Given the description of an element on the screen output the (x, y) to click on. 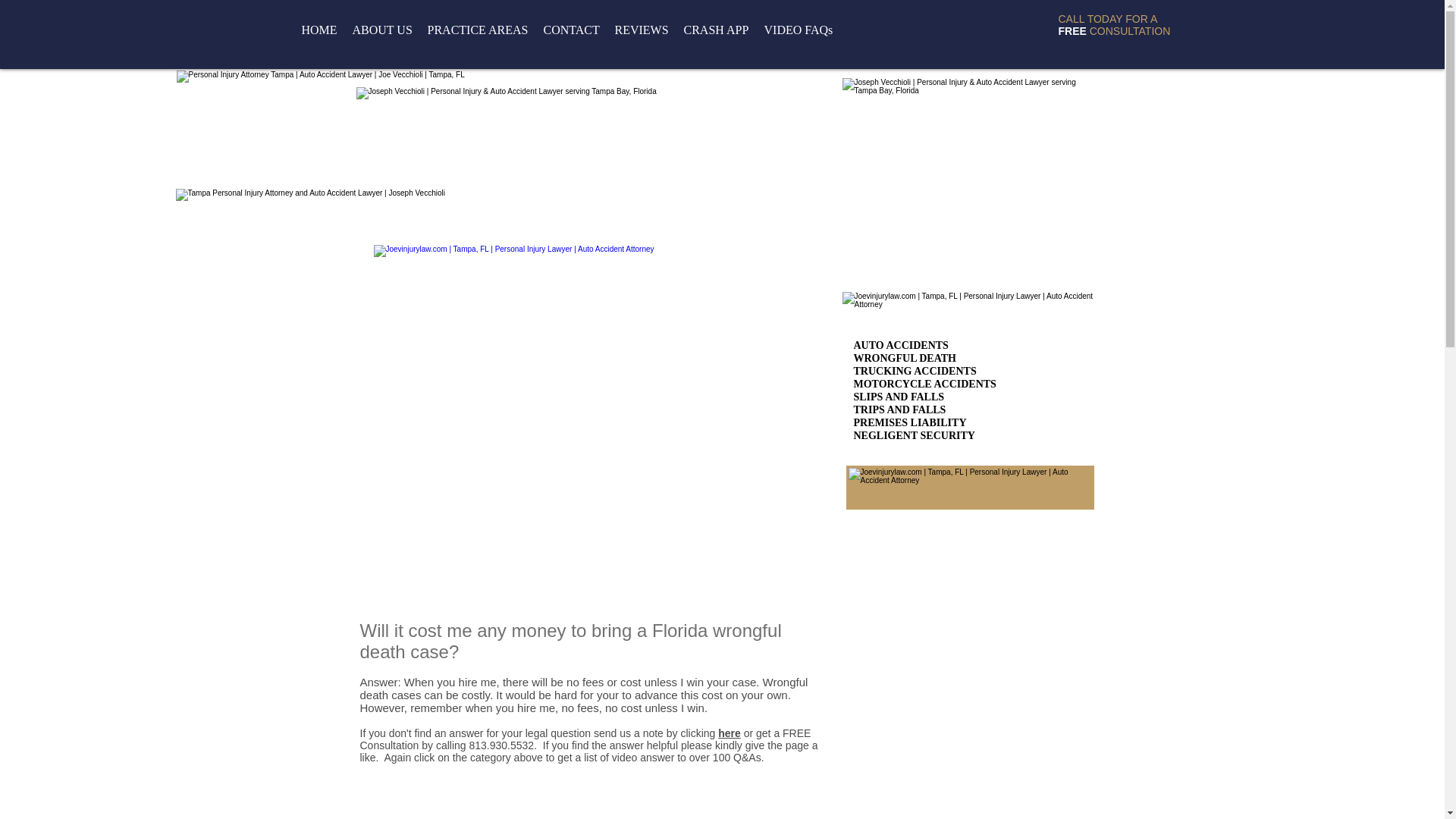
VIDEO FAQs (799, 30)
HOME (319, 30)
REVIEWS (641, 30)
External YouTube (585, 383)
TRUCKING ACCIDENTS (914, 370)
PREMISES LIABILITY (909, 422)
CONTACT (571, 30)
CRASH APP (717, 30)
NEGLIGENT SECURITY (914, 435)
MOTORCYCLE ACCIDENTS (924, 383)
PRACTICE AREAS (477, 30)
SLIPS AND FALLS (898, 396)
ABOUT US (381, 30)
TRIPS AND FALLS (899, 409)
here (729, 733)
